Given the description of an element on the screen output the (x, y) to click on. 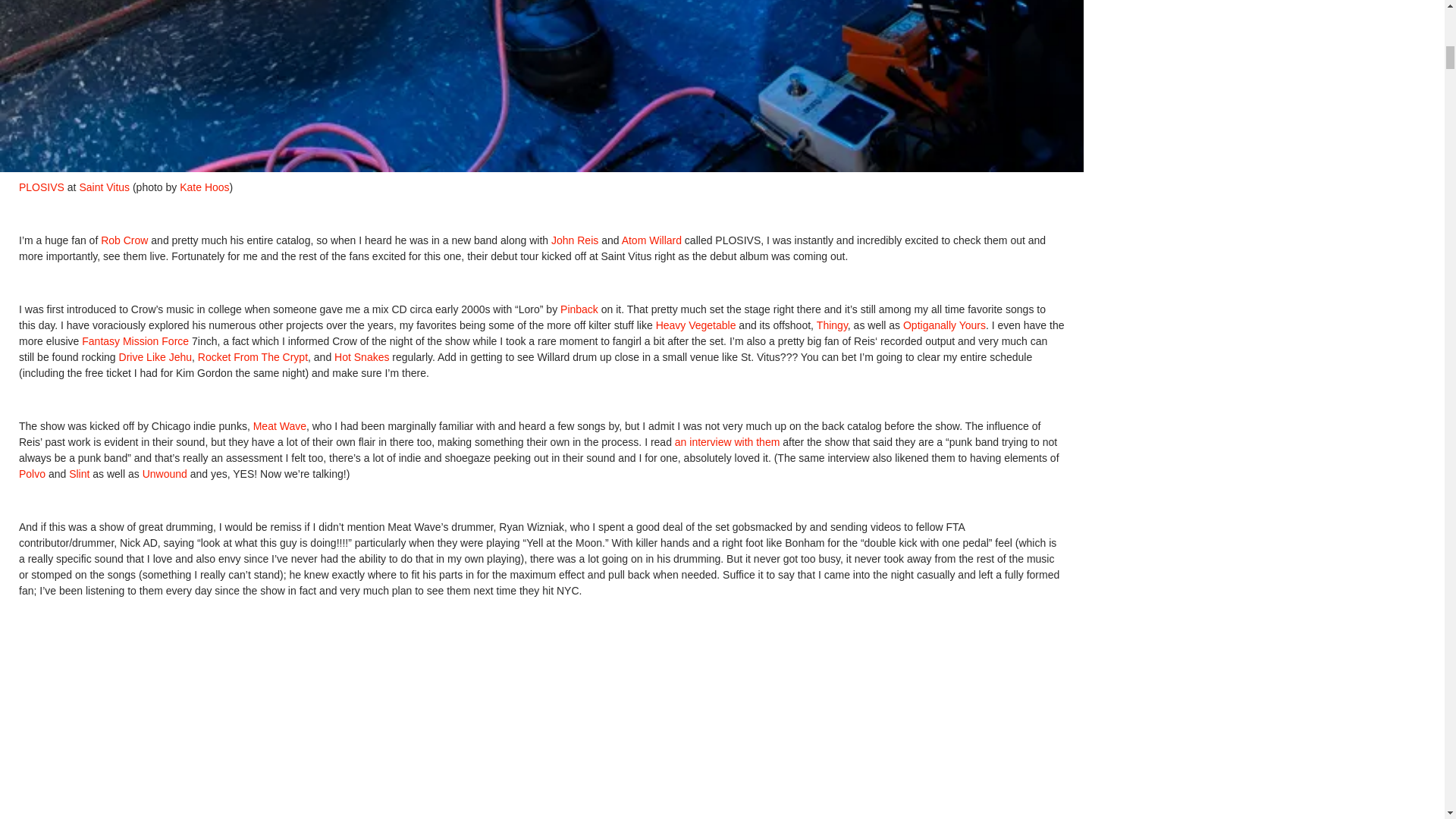
John Reis (574, 240)
Slint (78, 473)
an interview with them (724, 441)
Atom Willard (651, 240)
Fantasy Mission Force (133, 340)
Polvo (31, 473)
Optiganally Yours (942, 325)
Thingy (830, 325)
Rocket From The Crypt (251, 357)
Rob Crow (124, 240)
Meat Wave (277, 426)
Drive Like Jehu (154, 357)
Kate Hoos (203, 186)
Saint Vitus (103, 186)
